Given the description of an element on the screen output the (x, y) to click on. 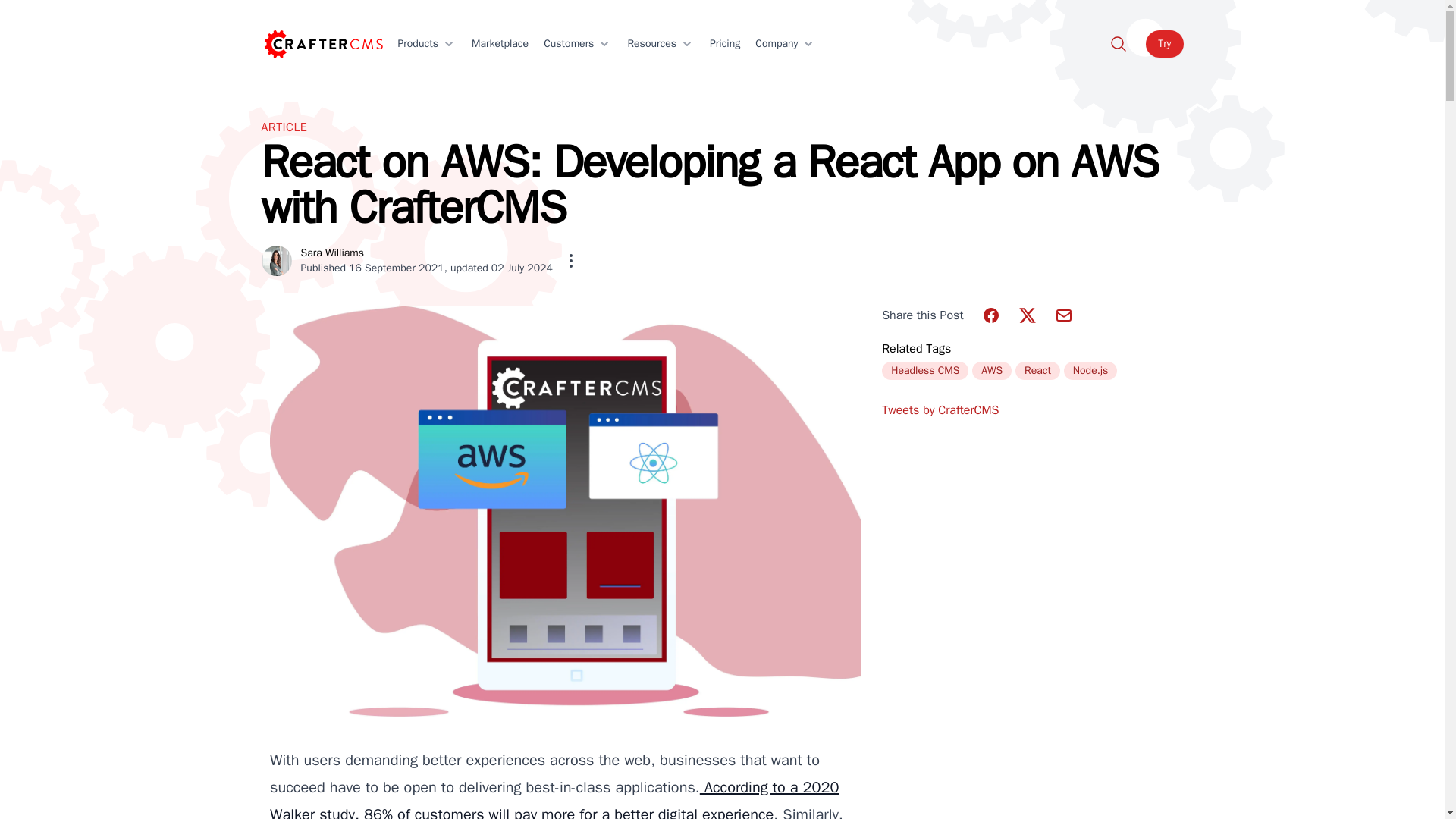
Share on twitter (1026, 315)
Pricing (724, 43)
Resources (660, 43)
Share on facebook (990, 315)
Company (785, 43)
Products (426, 43)
Customers (577, 43)
Search (1117, 44)
Share via email (1063, 315)
Marketplace (499, 43)
